Given the description of an element on the screen output the (x, y) to click on. 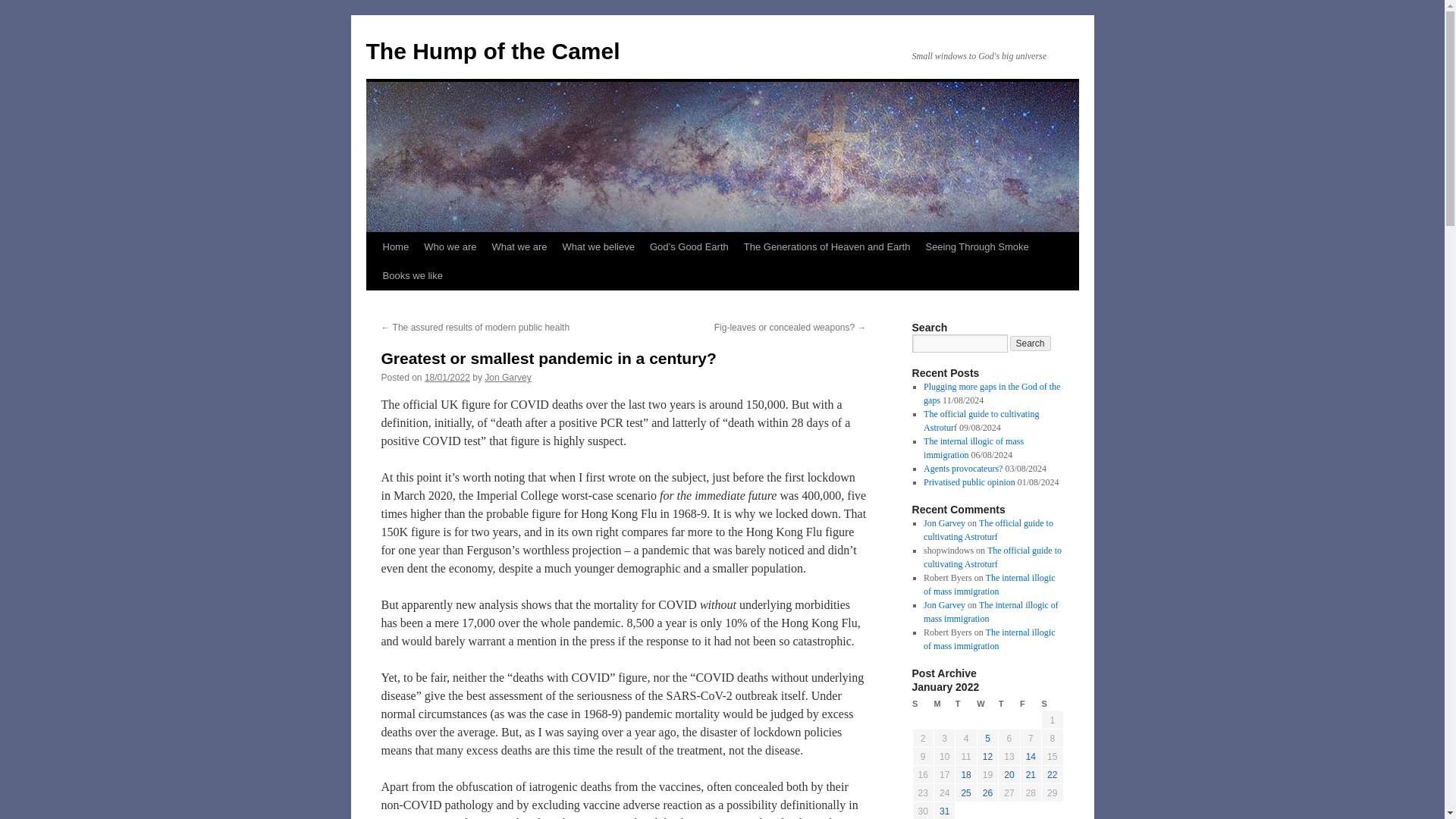
The Generations of Heaven and Earth (827, 246)
Agents provocateurs? (963, 468)
Thursday (1009, 703)
The official guide to cultivating Astroturf (981, 420)
The Hump of the Camel (492, 50)
View all posts by Jon Garvey (507, 377)
Jon Garvey (507, 377)
Books we like (411, 275)
The internal illogic of mass immigration (973, 447)
Tuesday (965, 703)
